Given the description of an element on the screen output the (x, y) to click on. 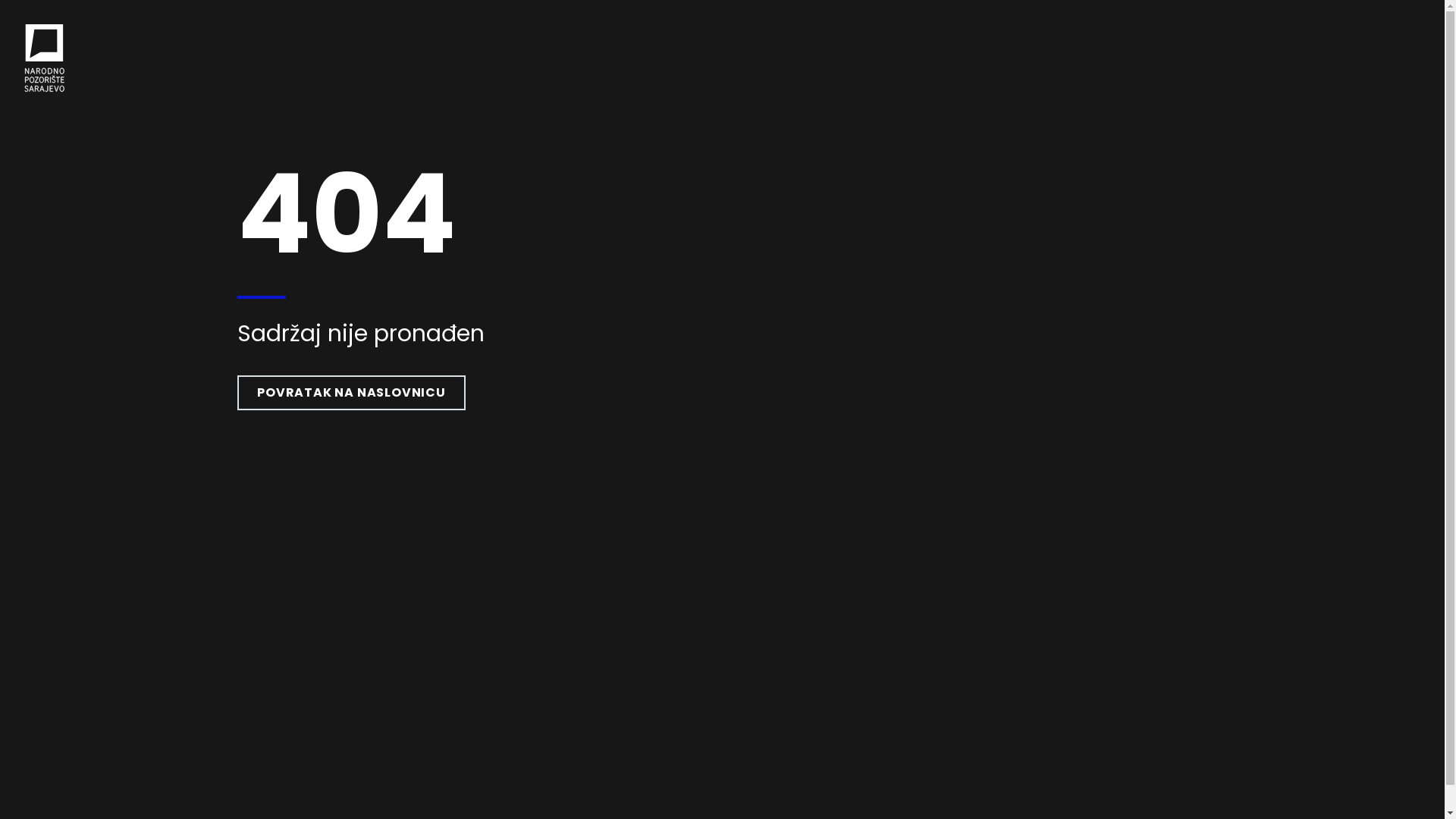
POVRATAK NA NASLOVNICU Element type: text (351, 392)
POVRATAK NA NASLOVNICU Element type: text (351, 392)
